Given the description of an element on the screen output the (x, y) to click on. 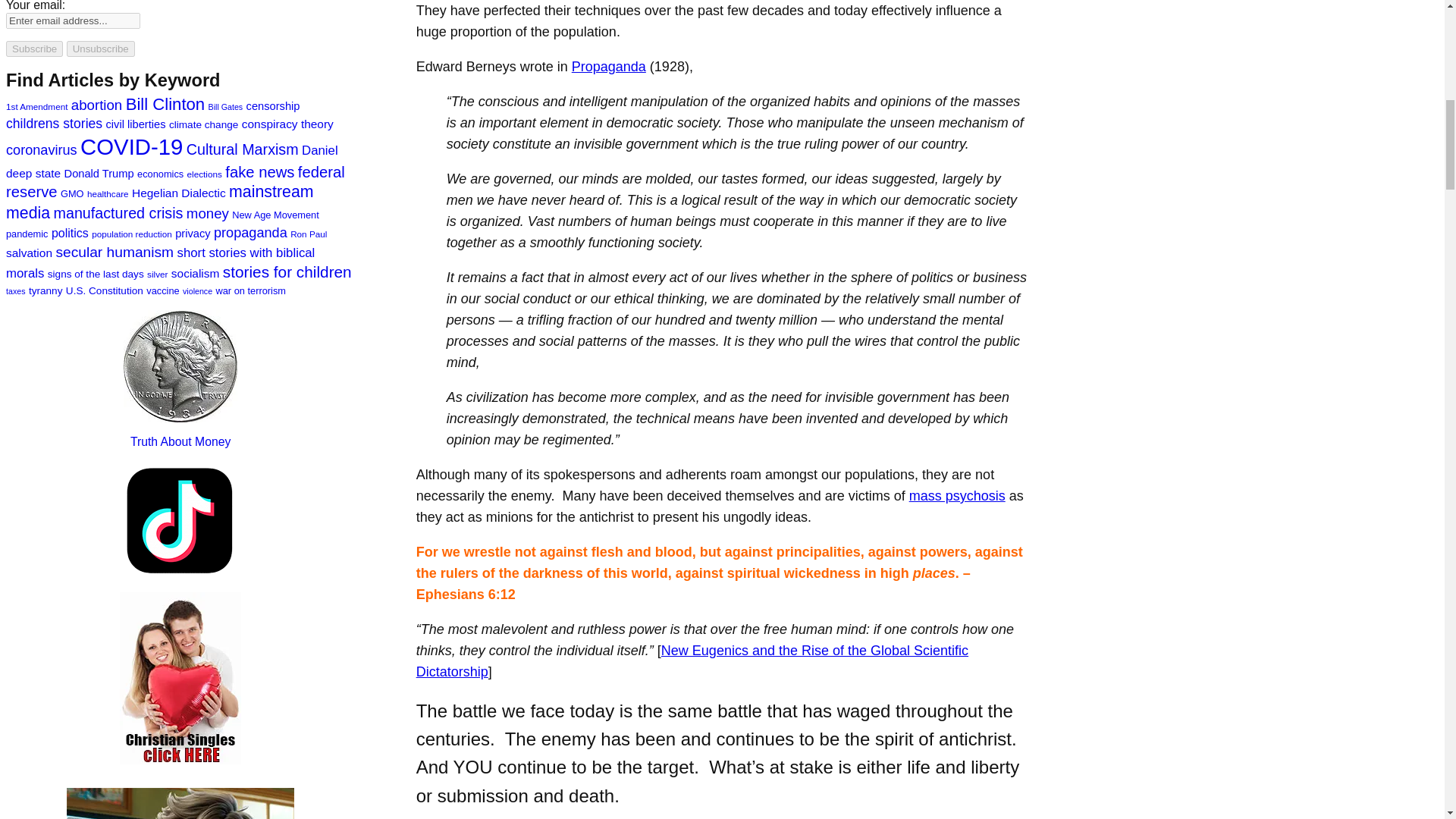
Propaganda (609, 66)
Subscribe (33, 48)
mass psychosis (957, 495)
Enter email address... (72, 20)
Unsubscribe (100, 48)
